Given the description of an element on the screen output the (x, y) to click on. 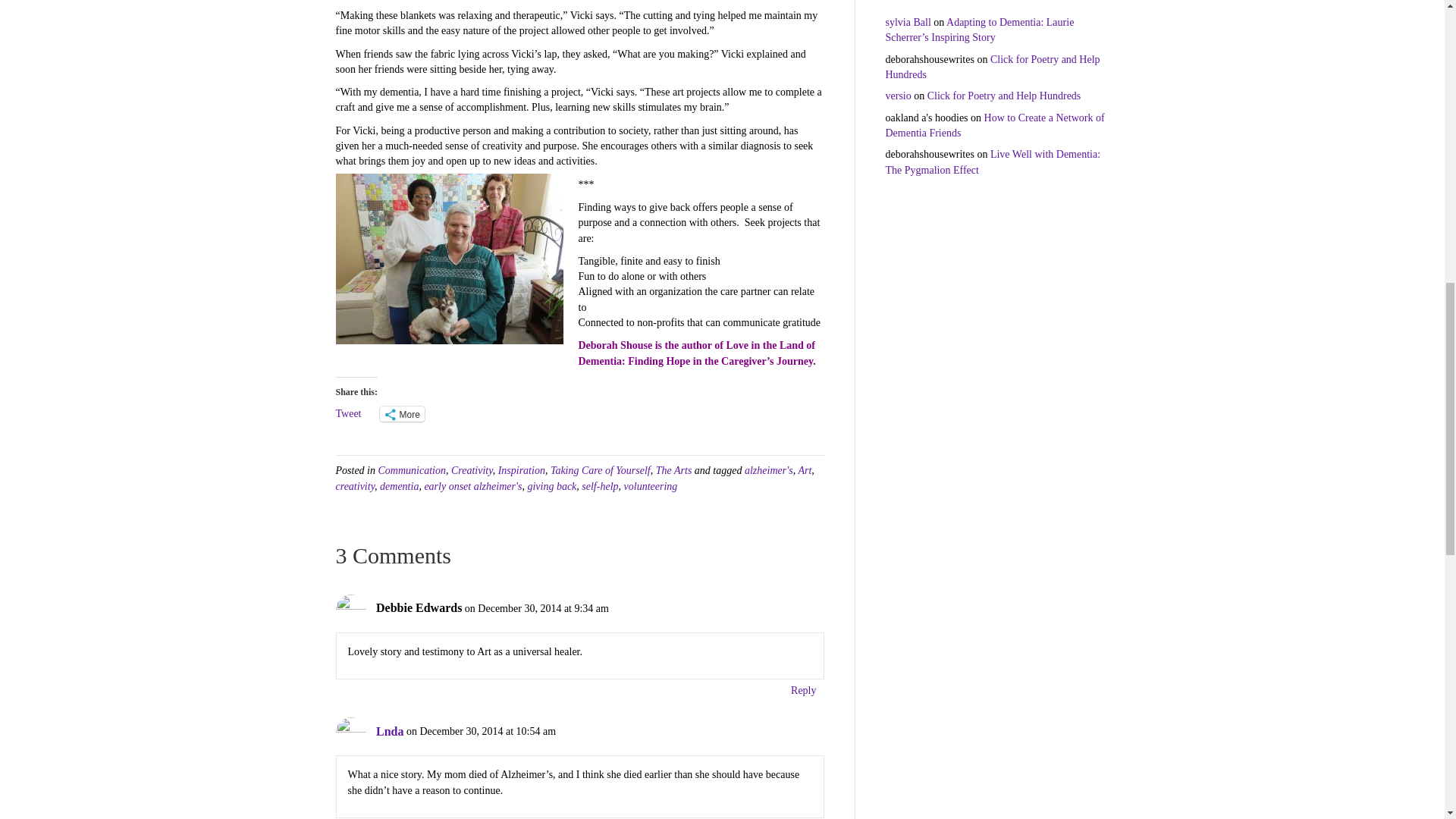
Inspiration (520, 470)
More (402, 413)
Communication (411, 470)
The Arts (674, 470)
Taking Care of Yourself (600, 470)
Tweet (347, 413)
Creativity (472, 470)
